Given the description of an element on the screen output the (x, y) to click on. 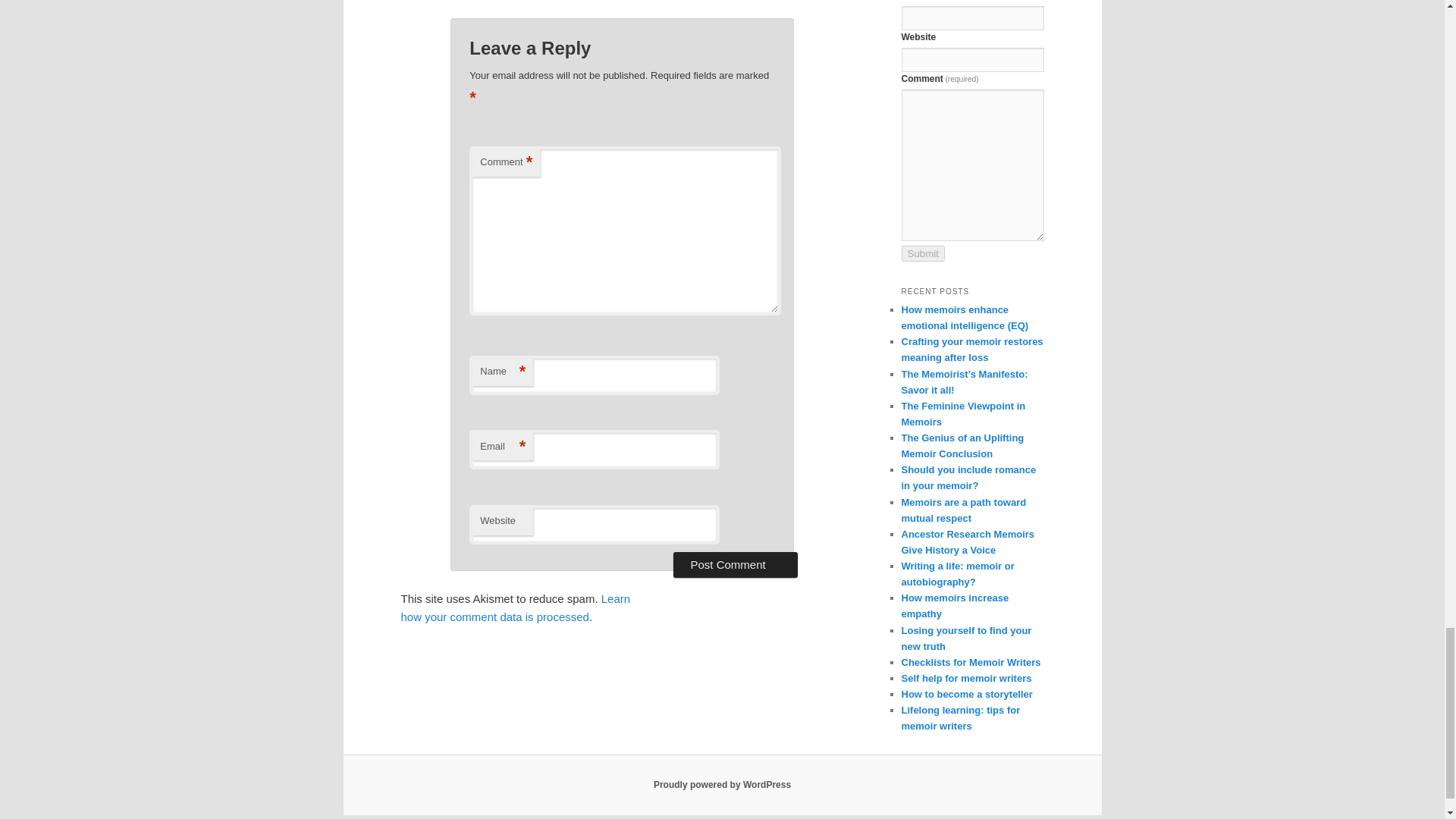
Post Comment (734, 565)
Semantic Personal Publishing Platform (721, 784)
